Given the description of an element on the screen output the (x, y) to click on. 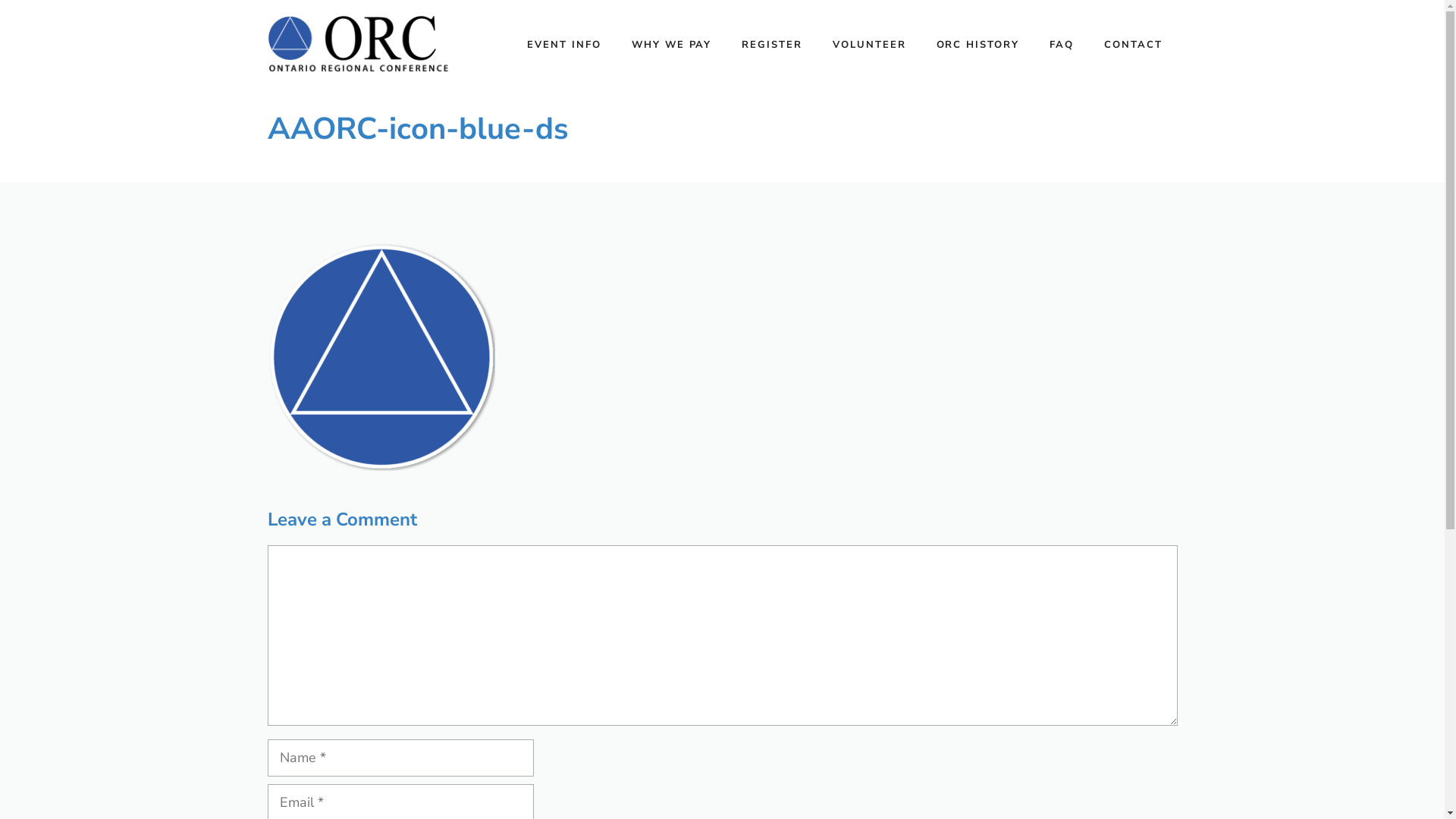
EVENT INFO Element type: text (563, 44)
CONTACT Element type: text (1132, 44)
ORC HISTORY Element type: text (977, 44)
REGISTER Element type: text (771, 44)
WHY WE PAY Element type: text (671, 44)
VOLUNTEER Element type: text (869, 44)
FAQ Element type: text (1061, 44)
